Given the description of an element on the screen output the (x, y) to click on. 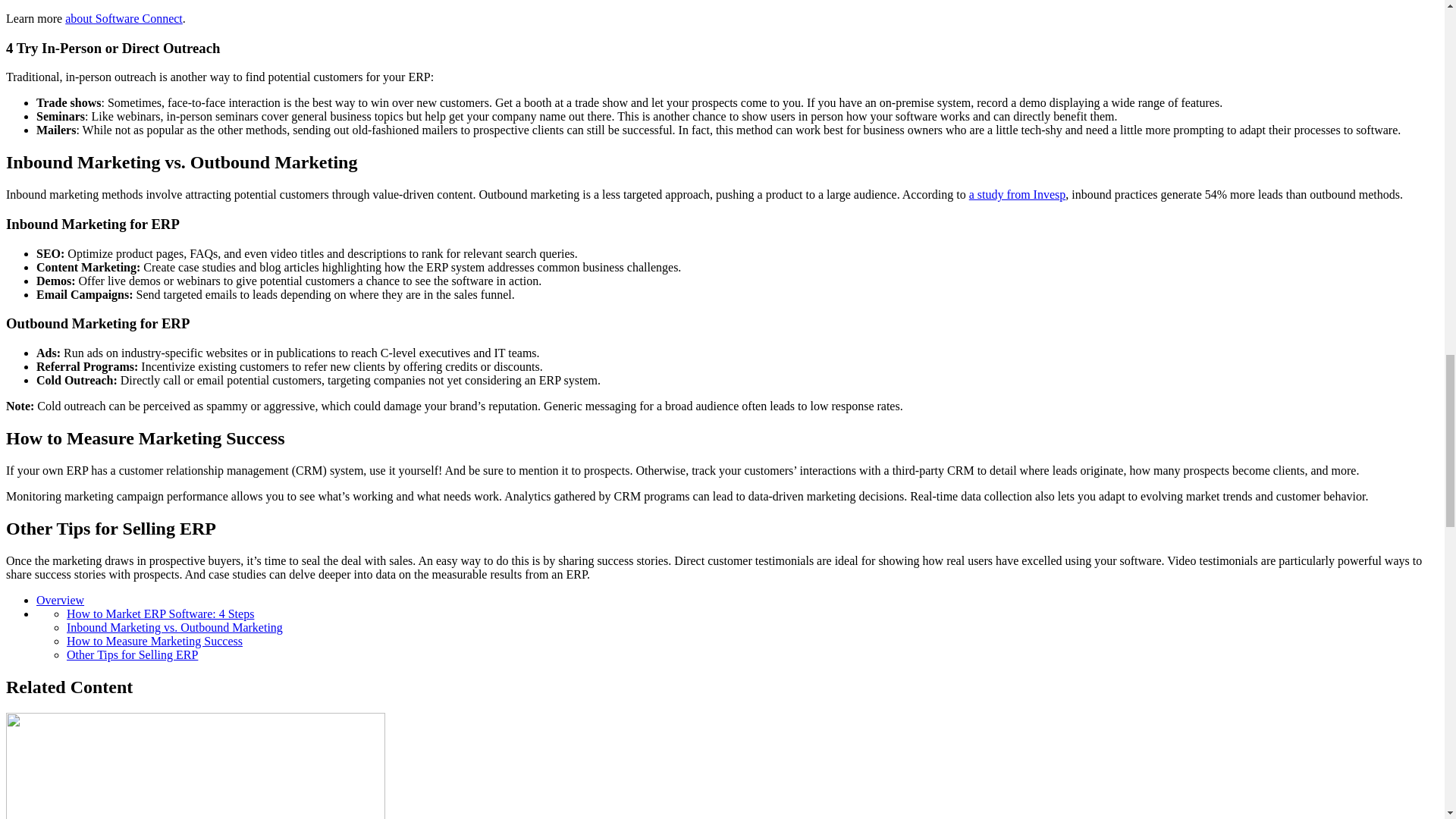
Other Tips for Selling ERP (132, 654)
about Software Connect (124, 18)
Overview (60, 599)
How to Measure Marketing Success (154, 640)
Inbound Marketing vs. Outbound Marketing (174, 626)
How to Market ERP Software: 4 Steps (159, 613)
a study from Invesp (1017, 194)
